Given the description of an element on the screen output the (x, y) to click on. 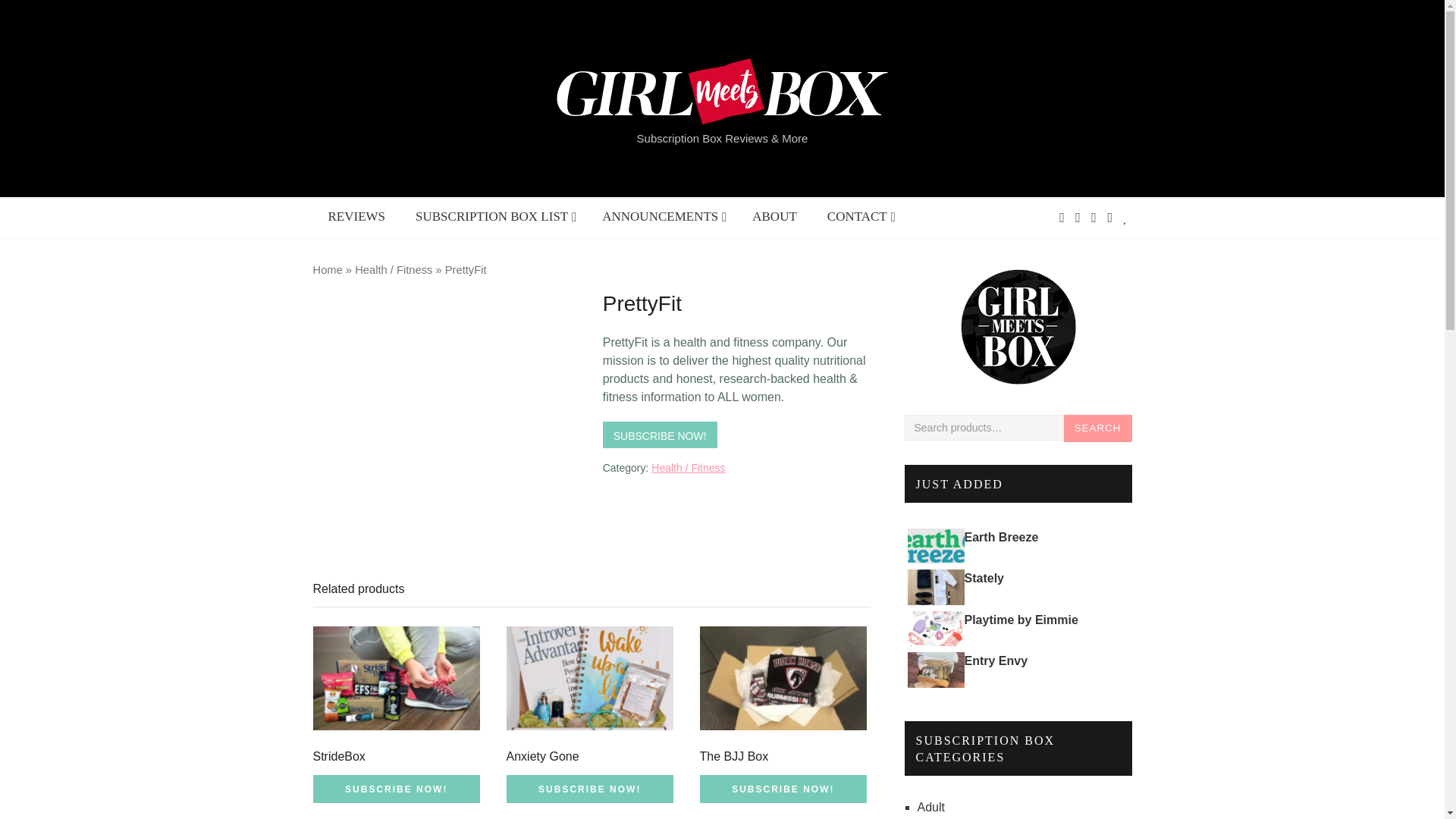
Contact (858, 216)
REVIEWS (356, 216)
Subscription Box and Directory (493, 216)
Whats New? (661, 216)
Subscription Box Reviews (356, 216)
Girl Meets Box (1017, 326)
SUBSCRIPTION BOX LIST (609, 216)
About (493, 216)
